Given the description of an element on the screen output the (x, y) to click on. 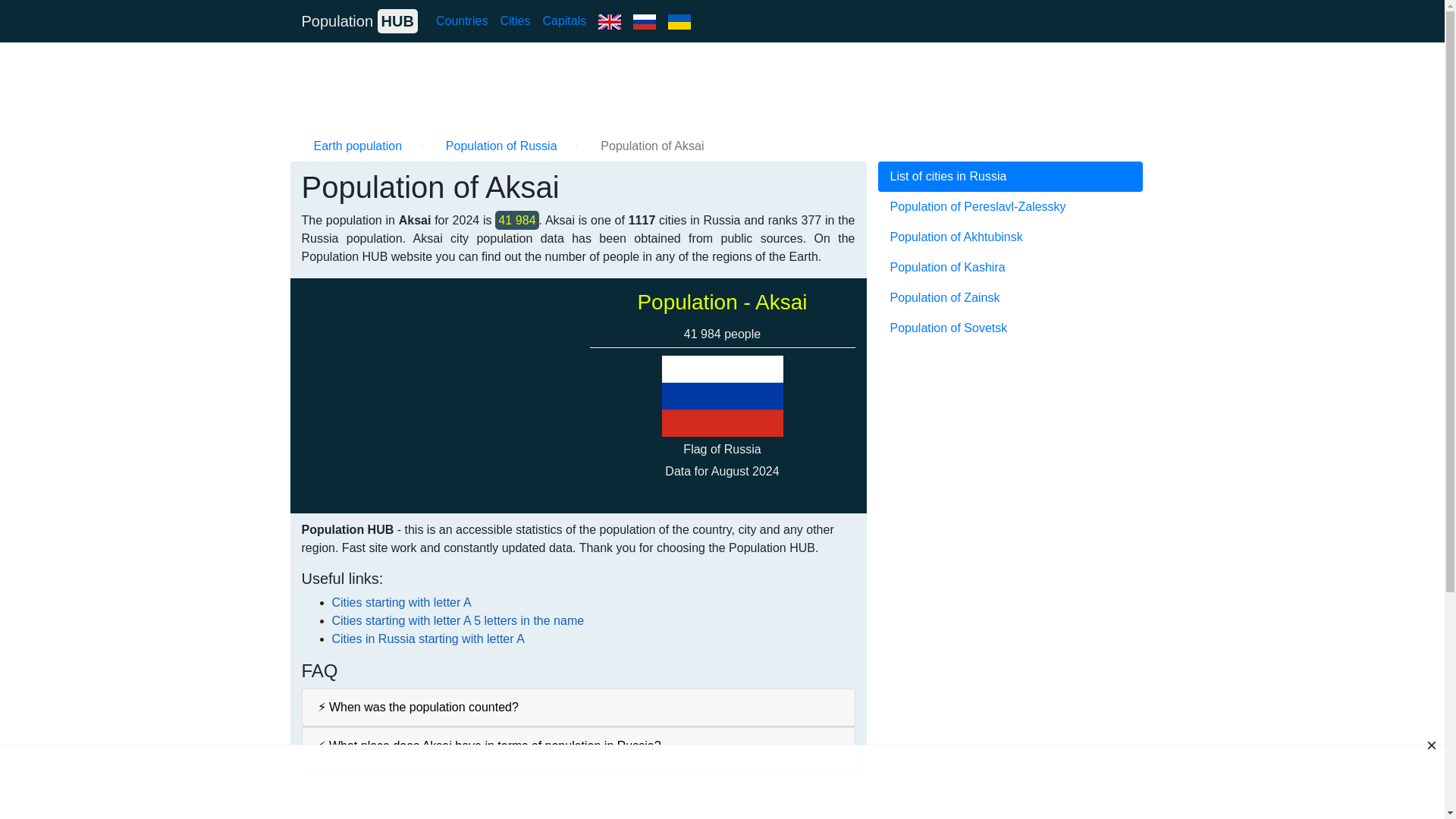
Advertisement (721, 779)
Population of Pereslavl-Zalessky (1009, 206)
Cities starting with letter A 5 letters in the name (458, 620)
Population of Sovetsk (1009, 327)
List of cities in Russia (1009, 176)
Population of Russia (501, 146)
Advertisement (1009, 449)
Earth population (357, 146)
Population of Kashira (1009, 267)
Population HUB (359, 20)
Capitals (563, 20)
Cities starting with letter A (401, 602)
Advertisement (434, 395)
Cities in Russia starting with letter A (427, 638)
Countries (461, 20)
